Given the description of an element on the screen output the (x, y) to click on. 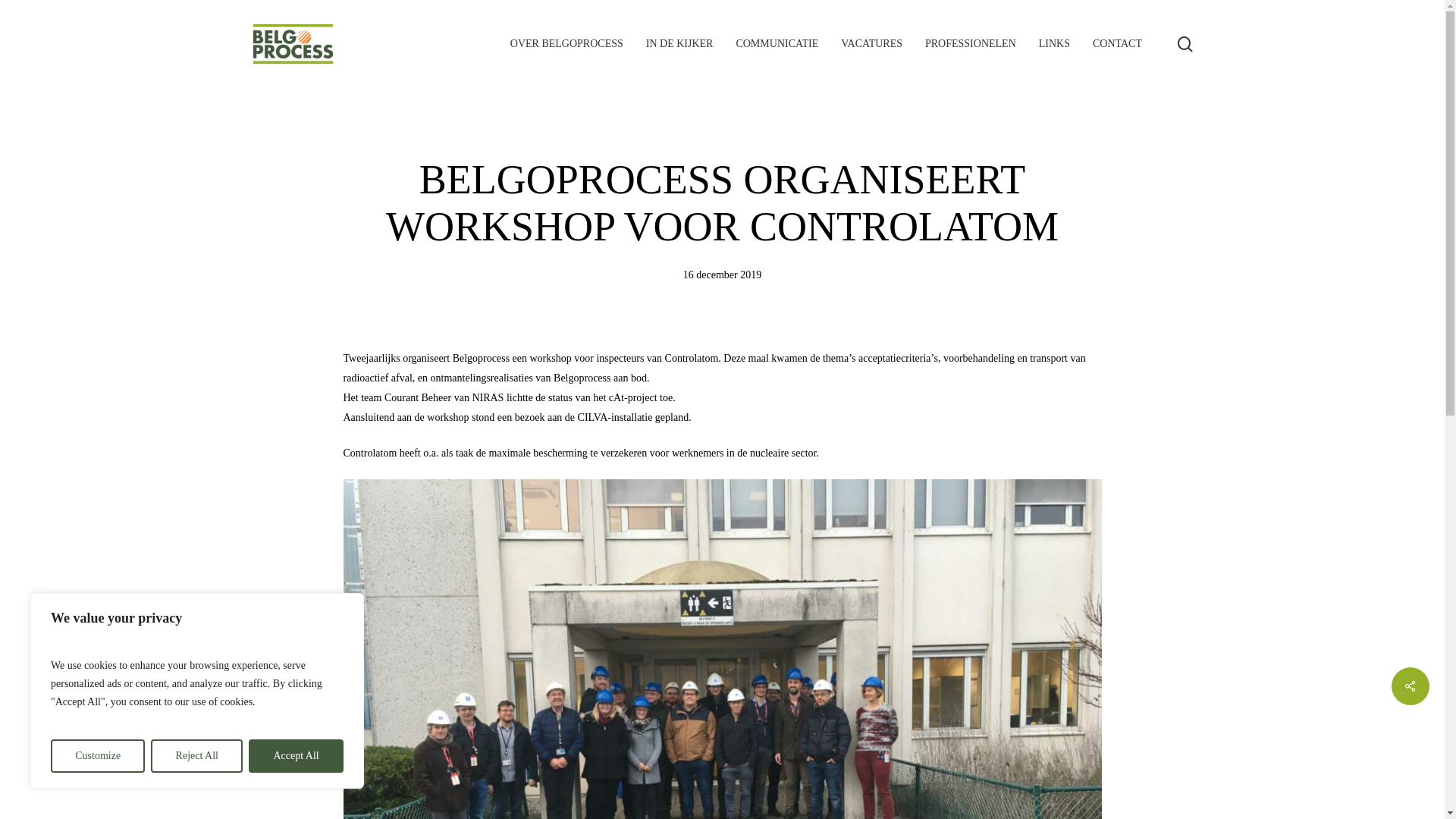
PRIVACY POLICY Element type: text (1083, 564)
facebook Element type: text (1159, 793)
COMMUNICATIE Element type: text (776, 43)
Accept All Element type: text (295, 755)
Reject All Element type: text (196, 755)
EEN DUURZAME WEG NAAR KOOLSTOF-14 Element type: text (601, 674)
search Element type: text (1185, 44)
PROFESSIONELEN Element type: text (970, 43)
DISCLAIMER Element type: text (1083, 615)
info@belgoprocess.be Element type: text (297, 701)
linkedin Element type: text (1186, 793)
ANSTO BEZOEKT BELGOPROCESS Element type: text (601, 648)
VACATURES Element type: text (871, 43)
twitter Element type: text (1133, 793)
LINKS Element type: text (1054, 43)
CONTACT Element type: text (1117, 43)
IN DE KIJKER Element type: text (679, 43)
CONDITIONS OF USE Element type: text (1083, 589)
Customize Element type: text (97, 755)
OVER BELGOPROCESS Element type: text (566, 43)
